Given the description of an element on the screen output the (x, y) to click on. 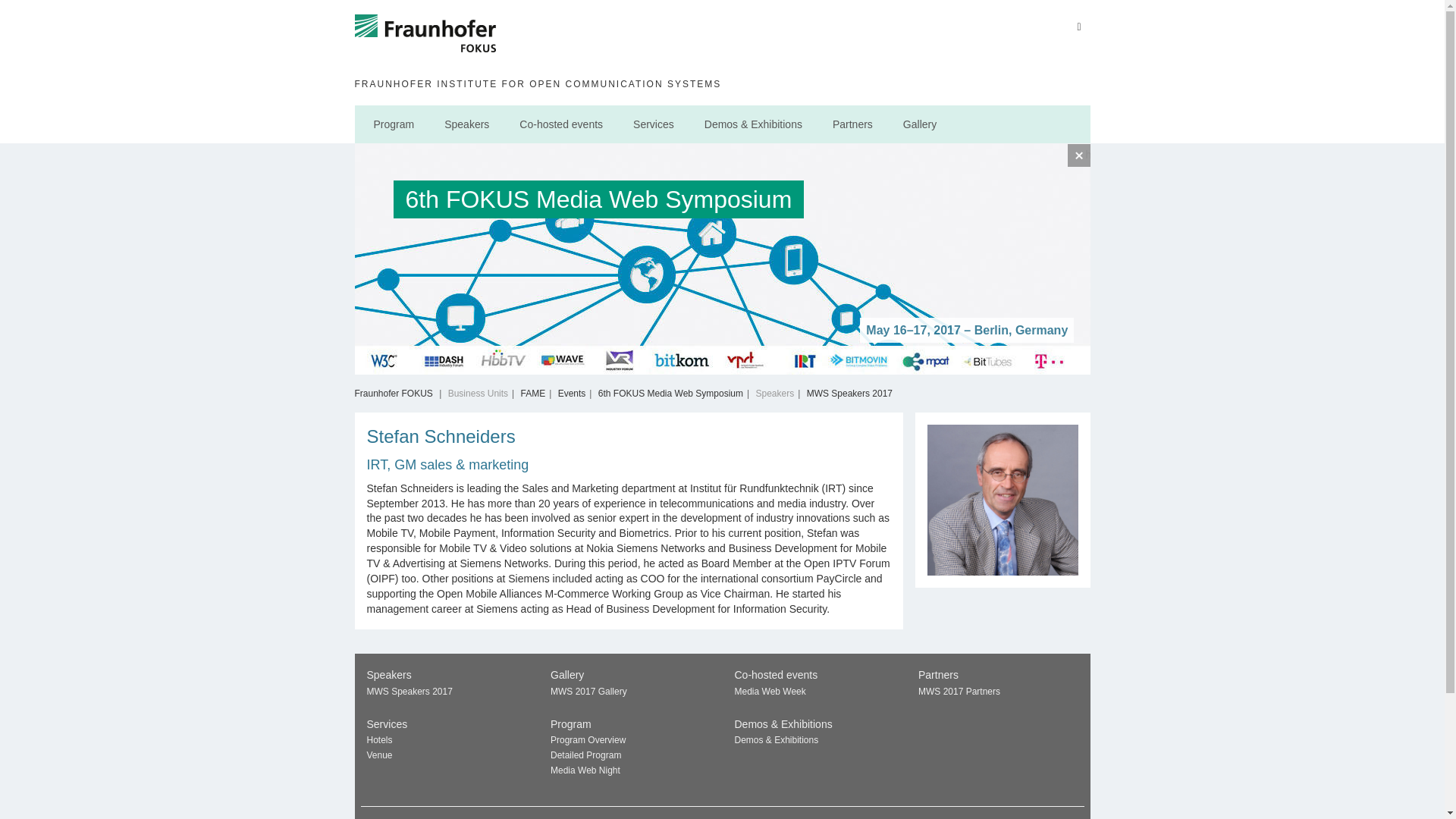
FAME (533, 393)
Gallery (919, 124)
Co-hosted events (561, 124)
Partners (852, 124)
Fraunhofer FOKUS (393, 393)
Events (571, 393)
Fraunhofer FOKUS (426, 39)
Venue (379, 755)
Speakers (466, 124)
Program Overview (588, 739)
MWS Speakers 2017 (849, 393)
MWS 2017 Gallery (588, 691)
FRAUNHOFER INSTITUTE FOR OPEN COMMUNICATION SYSTEMS (719, 82)
Program (394, 124)
Services (653, 124)
